Given the description of an element on the screen output the (x, y) to click on. 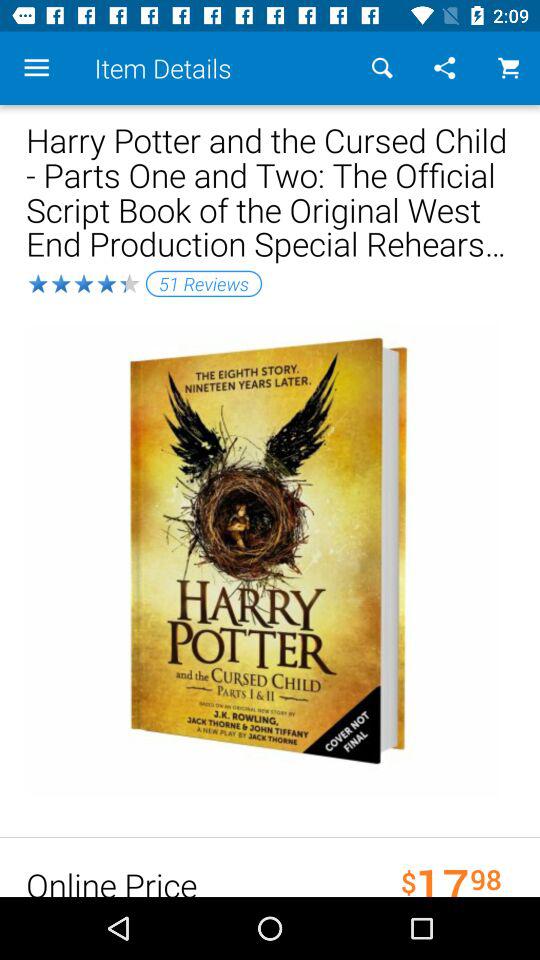
press the icon next to item details icon (36, 68)
